Given the description of an element on the screen output the (x, y) to click on. 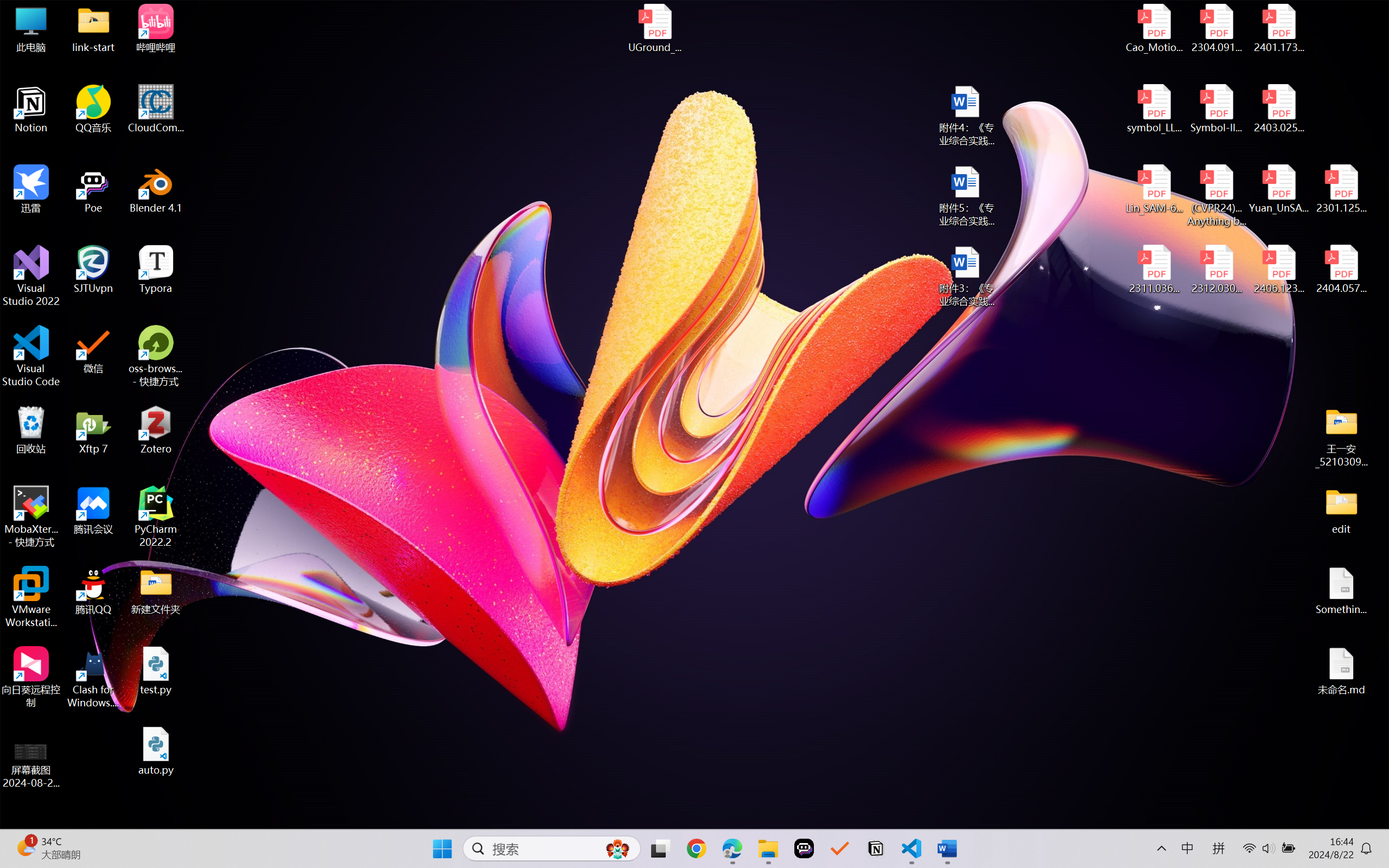
Symbol-llm-v2.pdf (1216, 109)
CloudCompare (156, 109)
Typora (156, 269)
Google Chrome (696, 848)
(CVPR24)Matching Anything by Segmenting Anything.pdf (1216, 195)
edit (1340, 510)
symbol_LLM.pdf (1154, 109)
